Given the description of an element on the screen output the (x, y) to click on. 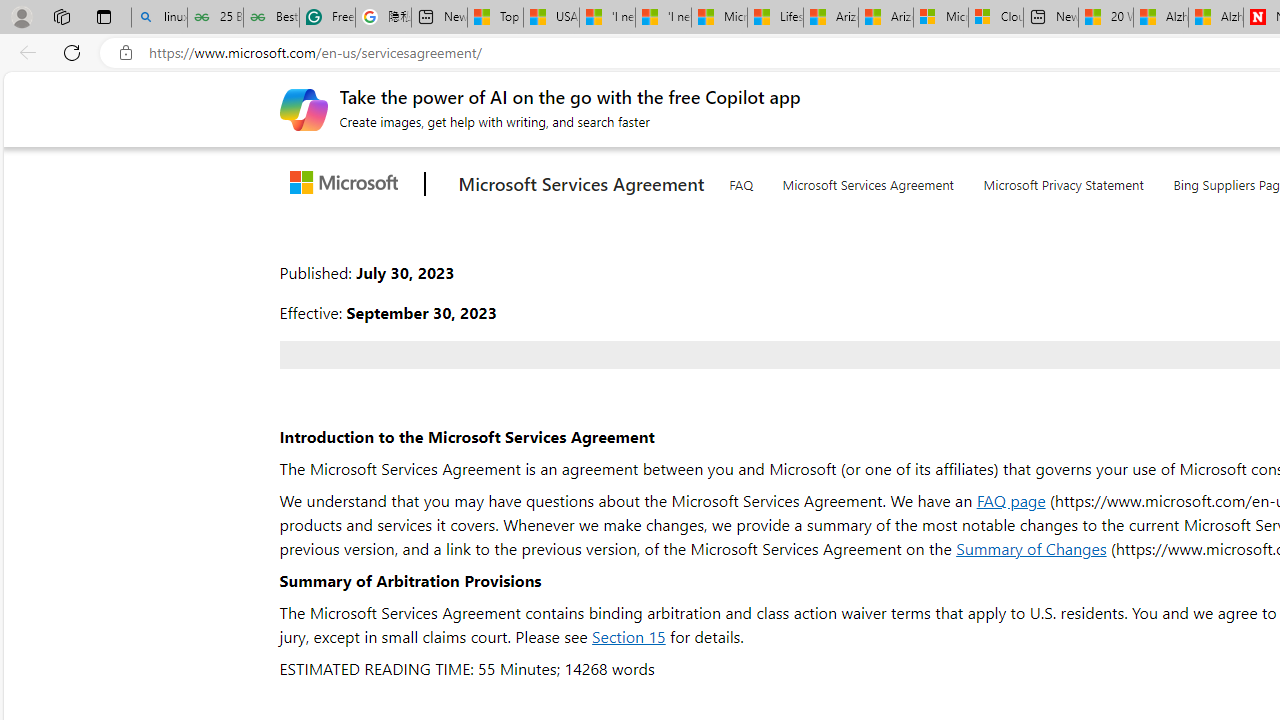
linux basic - Search (158, 17)
Microsoft Services Agreement (868, 180)
Microsoft (348, 184)
Best SSL Certificates Provider in India - GeeksforGeeks (271, 17)
20 Ways to Boost Your Protein Intake at Every Meal (1105, 17)
Cloud Computing Services | Microsoft Azure (995, 17)
Free AI Writing Assistance for Students | Grammarly (326, 17)
Microsoft Services Agreement (940, 17)
USA TODAY - MSN (550, 17)
